Given the description of an element on the screen output the (x, y) to click on. 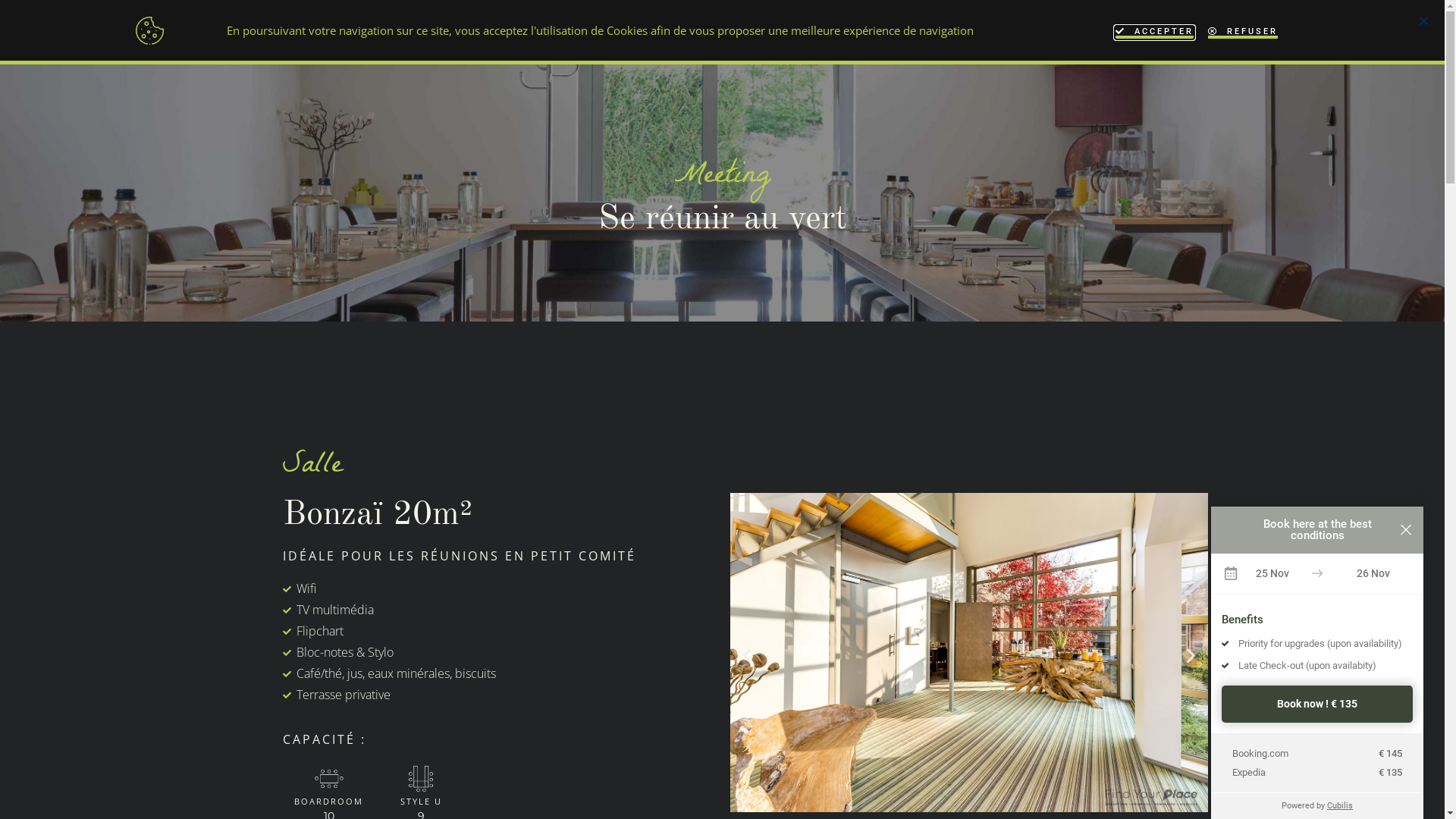
FR Element type: text (1365, 25)
RESTAURANT Element type: text (711, 25)
CONTACT Element type: text (924, 25)
NEWS Element type: text (862, 25)
ACCUEIL Element type: text (558, 25)
EN Element type: text (1335, 25)
Cubilis Element type: text (1339, 805)
